Given the description of an element on the screen output the (x, y) to click on. 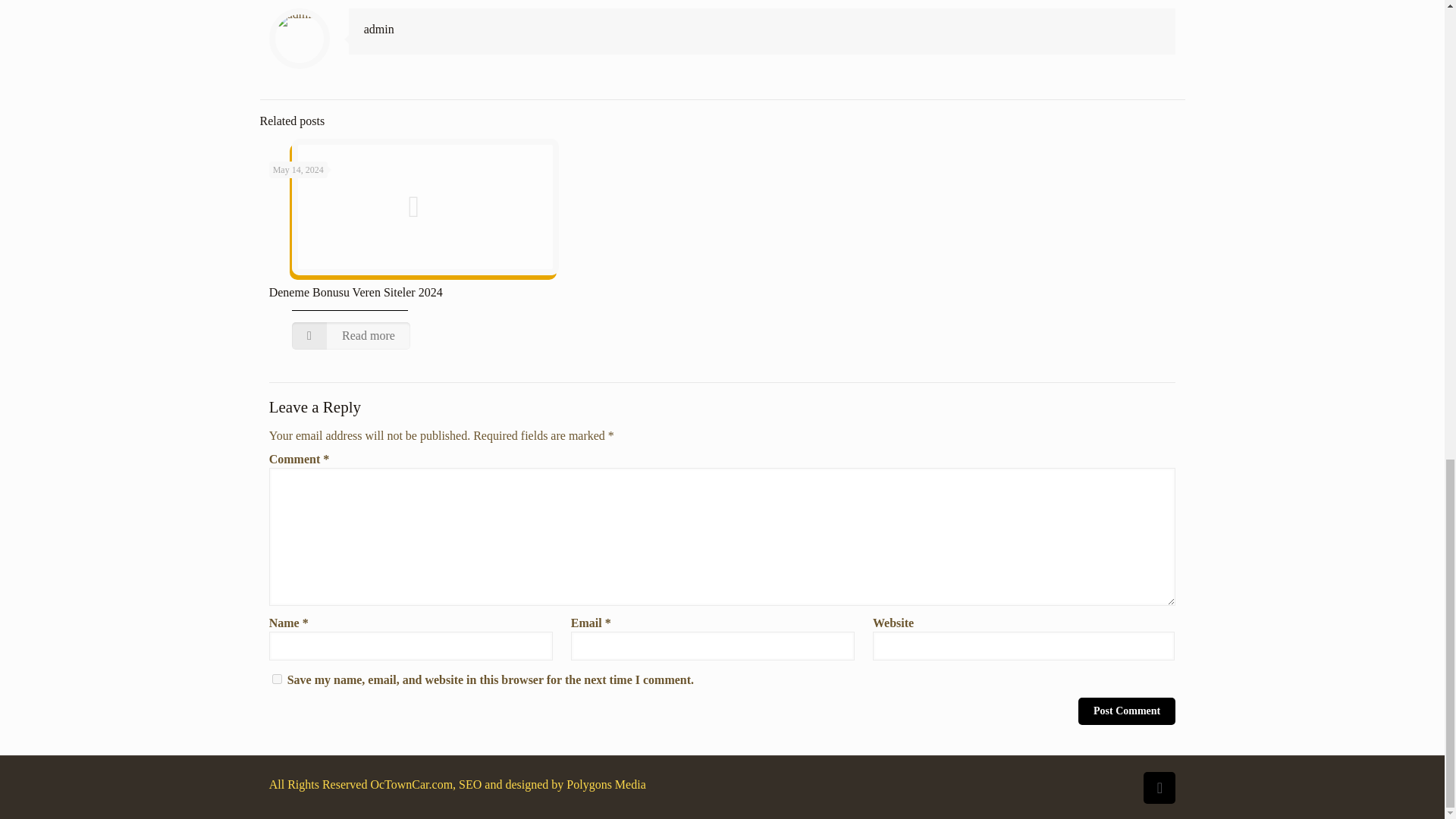
Post Comment (1126, 710)
Deneme Bonusu Veren Siteler 2024 (355, 291)
yes (277, 678)
SEO and designed by Polygons Media (550, 784)
admin (379, 29)
Read more (351, 335)
Post Comment (1126, 710)
